Given the description of an element on the screen output the (x, y) to click on. 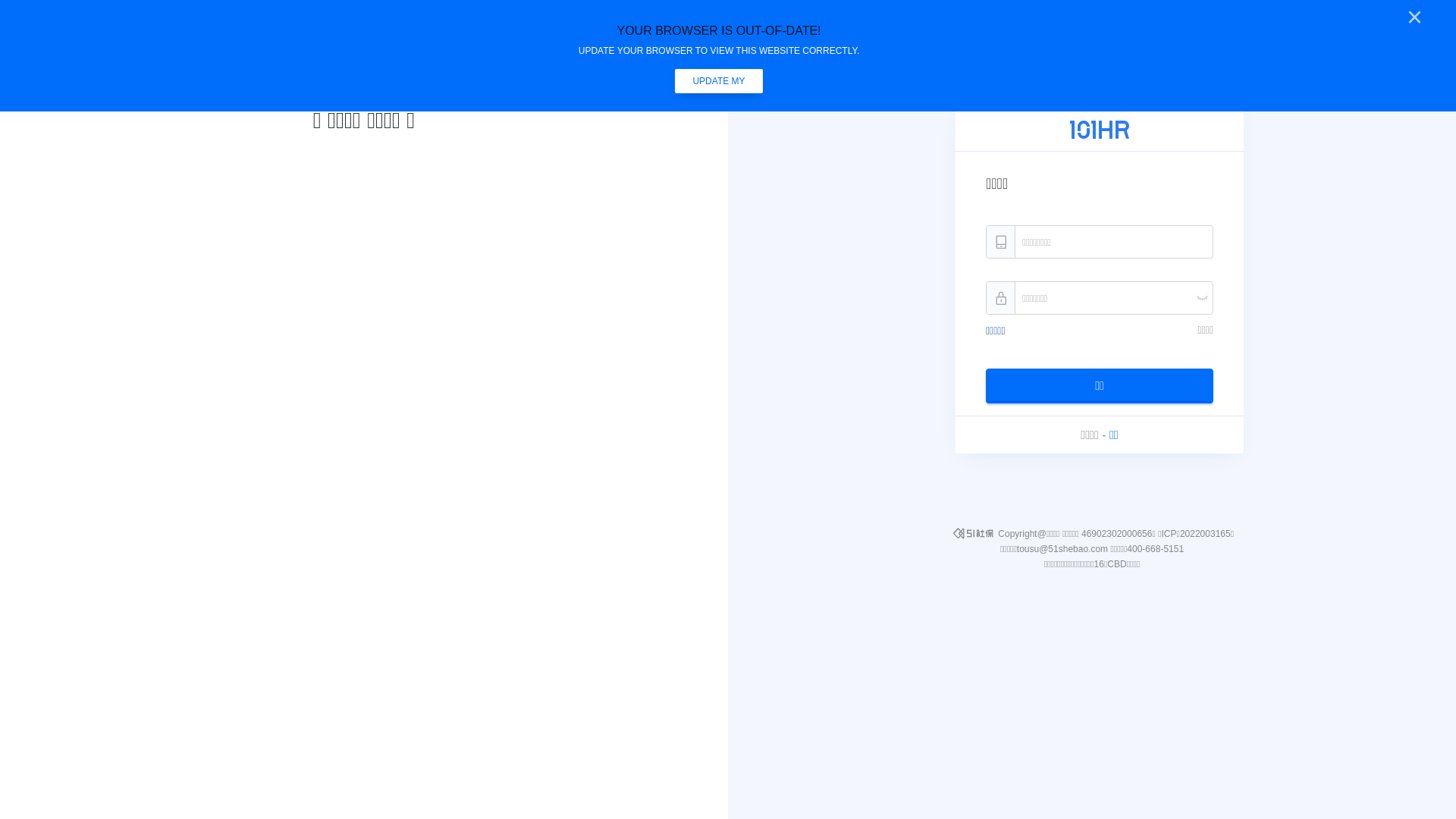
UPDATE MY BROWSER NOW Element type: text (718, 81)
